Given the description of an element on the screen output the (x, y) to click on. 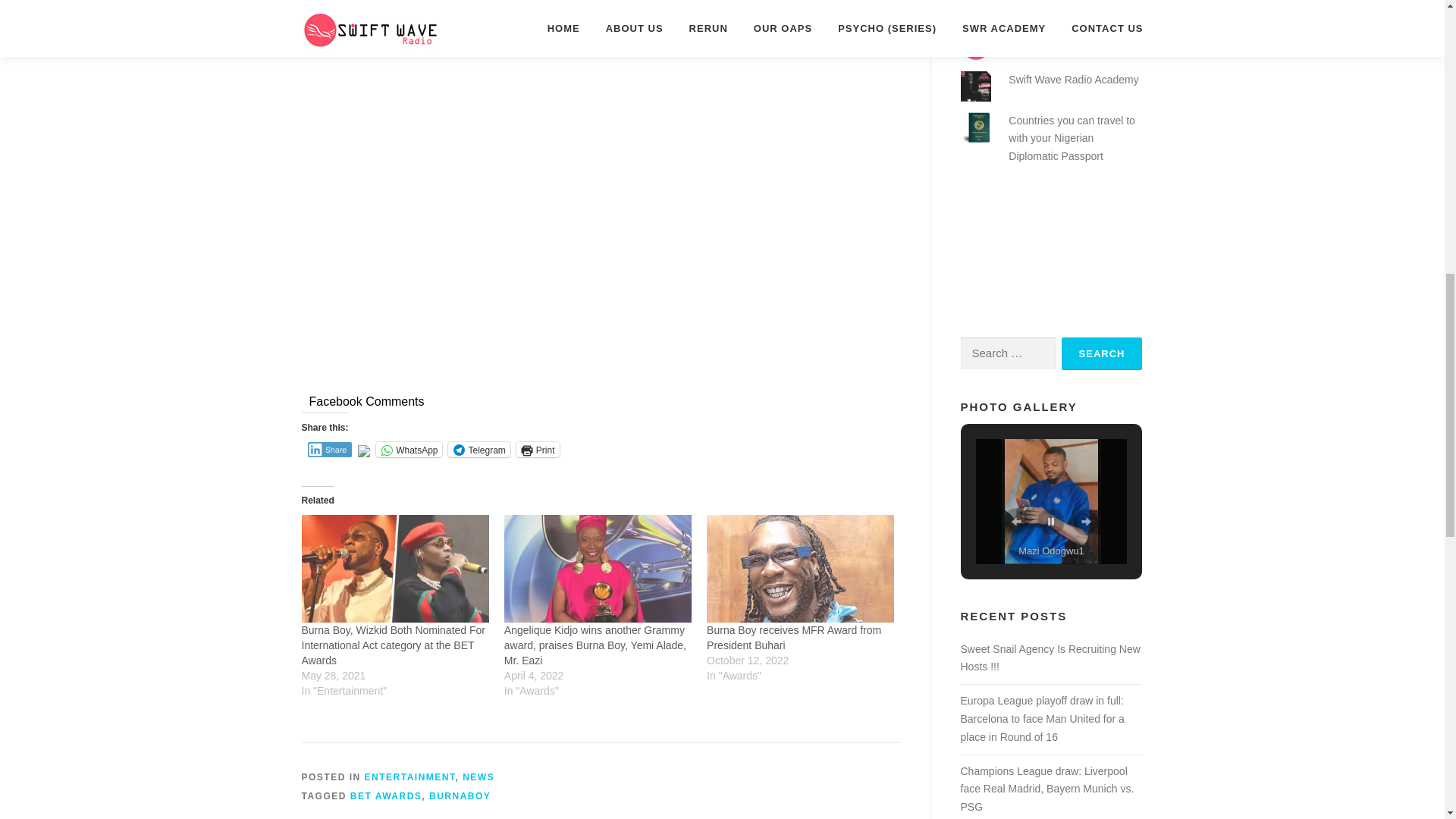
Print (537, 449)
Click to share on WhatsApp (408, 449)
Telegram (478, 449)
ENTERTAINMENT (410, 777)
Burna Boy receives MFR Award from President Buhari (793, 637)
WhatsApp (408, 449)
NEWS (479, 777)
Click to share on Telegram (478, 449)
Burna Boy receives MFR Award from President Buhari (799, 568)
Click to print (537, 449)
About Us (1030, 2)
